Given the description of an element on the screen output the (x, y) to click on. 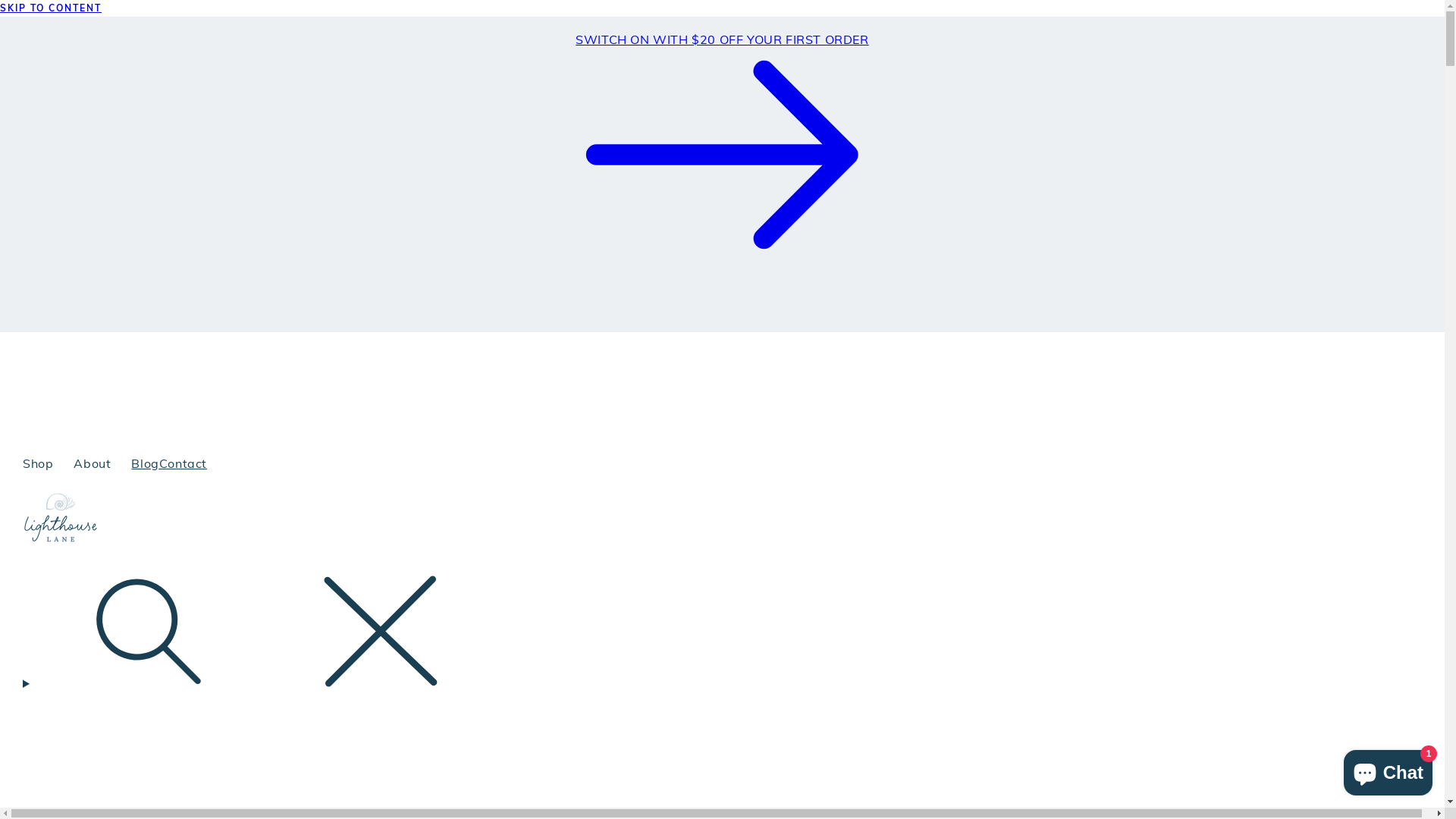
SWITCH ON WITH $20 OFF YOUR FIRST ORDER Element type: text (721, 147)
SKIP TO CONTENT Element type: text (722, 8)
Contact Element type: text (183, 463)
Shopify online store chat Element type: hover (1388, 769)
Blog Element type: text (144, 463)
